Given the description of an element on the screen output the (x, y) to click on. 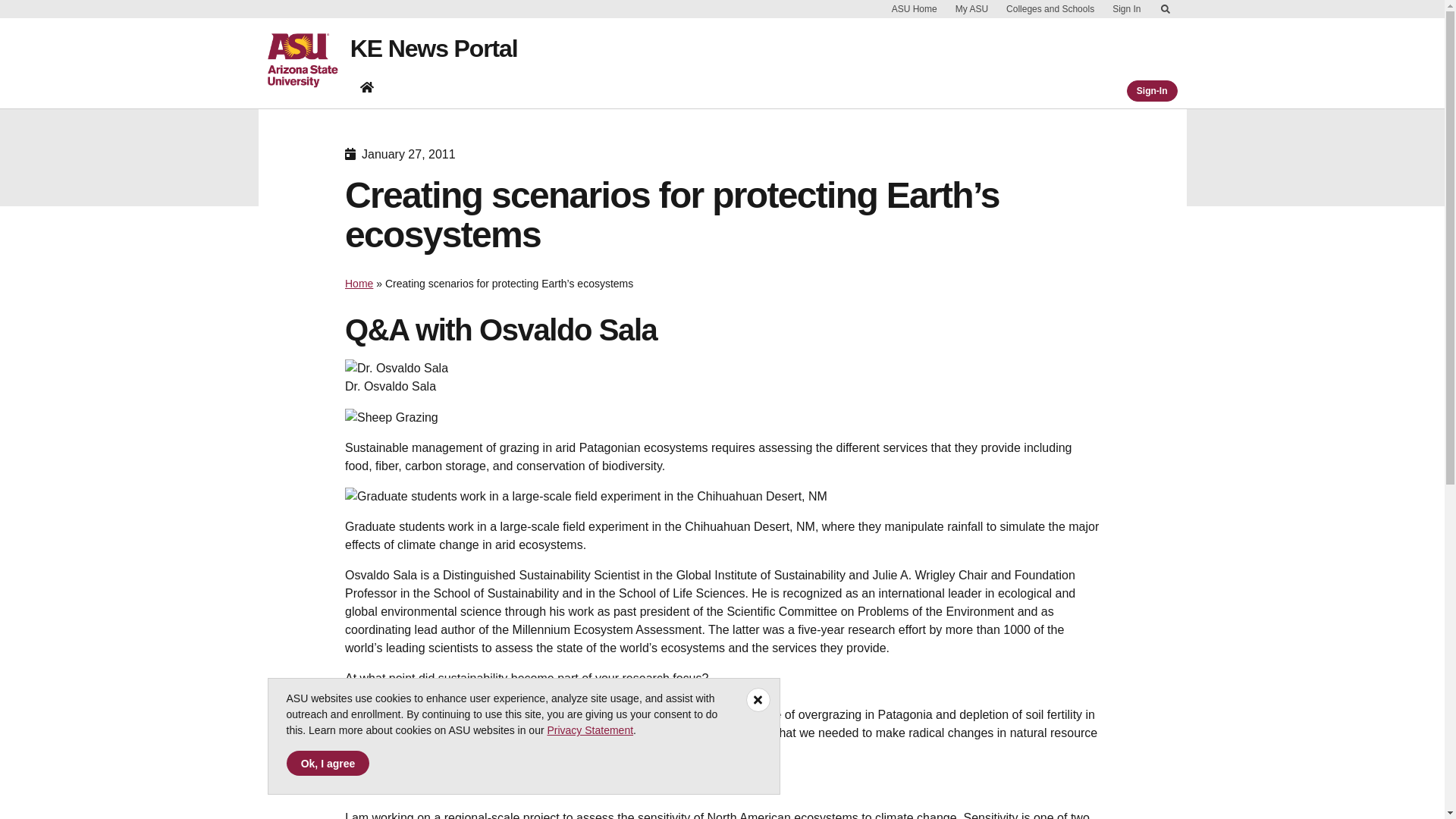
Colleges and Schools (1050, 8)
My ASU (971, 8)
KE News Portal home (366, 87)
Sign-In (1151, 90)
KE News Portal home (367, 90)
Sign In (1126, 8)
Skip to Content (1164, 8)
ASU Home (914, 8)
Privacy Statement (590, 729)
Ok, I agree (327, 763)
